Given the description of an element on the screen output the (x, y) to click on. 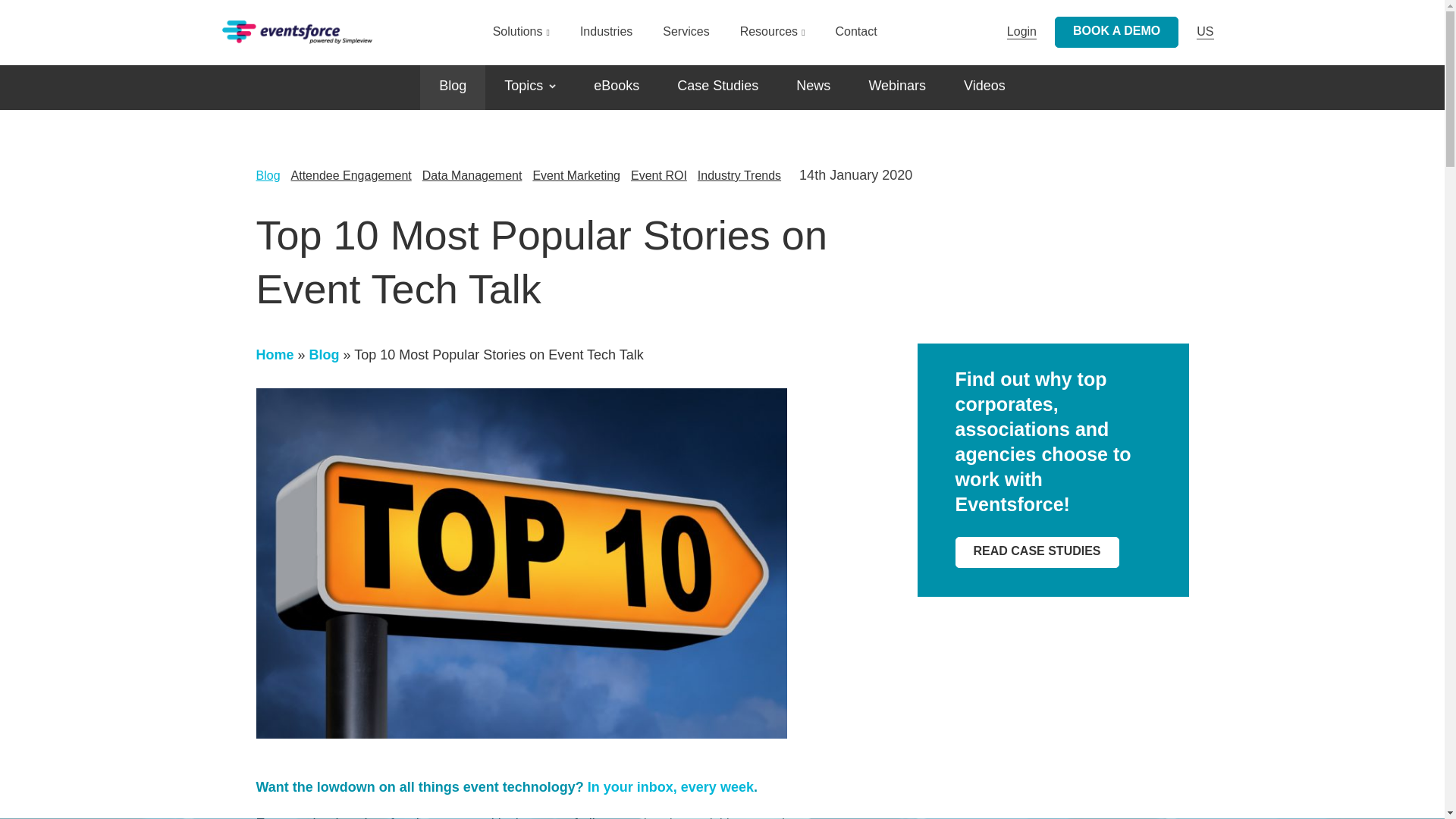
BOOK A DEMO (1115, 31)
Login (951, 239)
Blog (452, 86)
Services (685, 39)
Topics (529, 86)
Login (1021, 32)
Resources (772, 39)
Solutions (521, 39)
Contact (856, 39)
US (1204, 32)
Industries (605, 39)
